Given the description of an element on the screen output the (x, y) to click on. 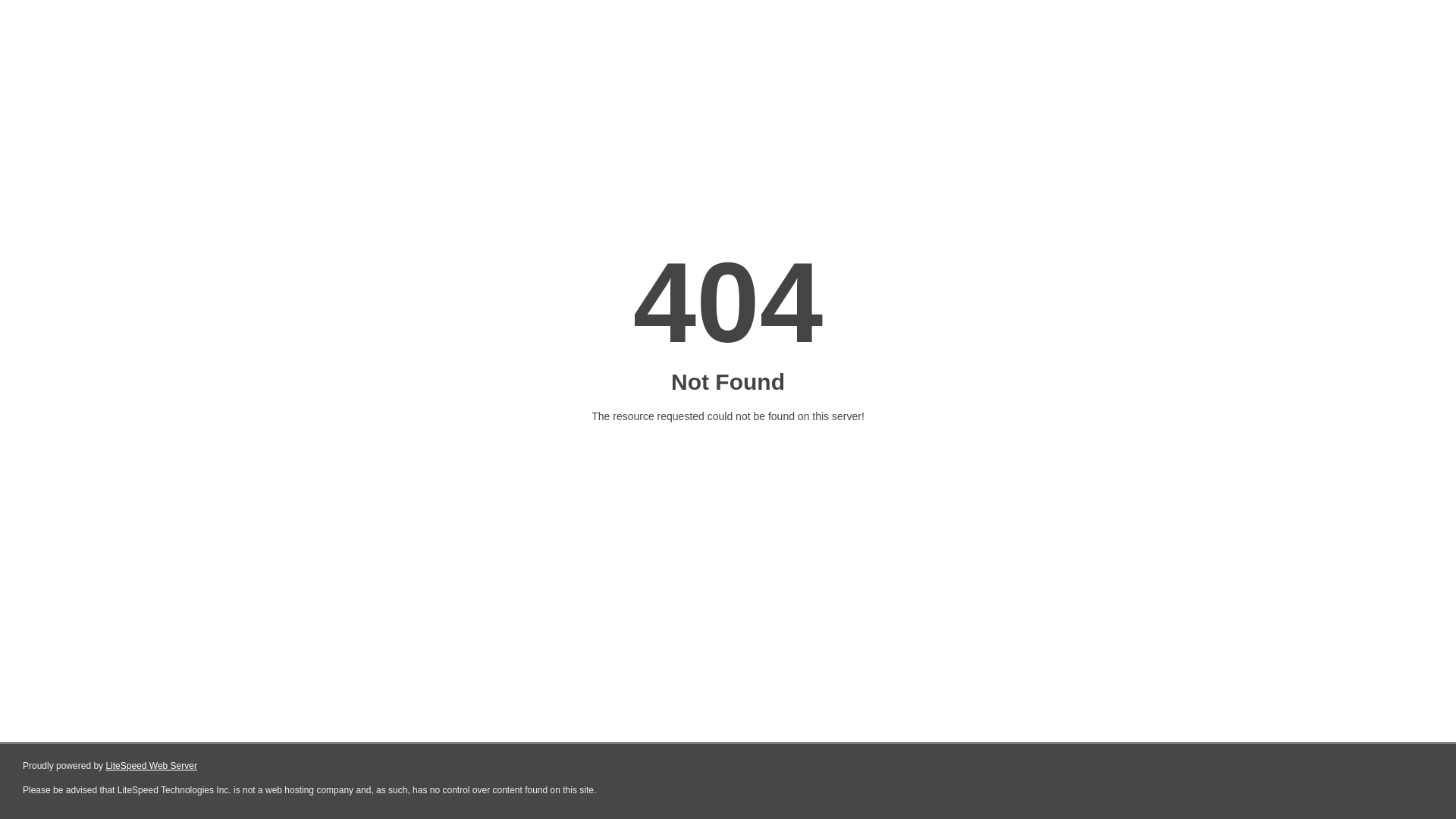
LiteSpeed Web Server Element type: text (151, 765)
